Given the description of an element on the screen output the (x, y) to click on. 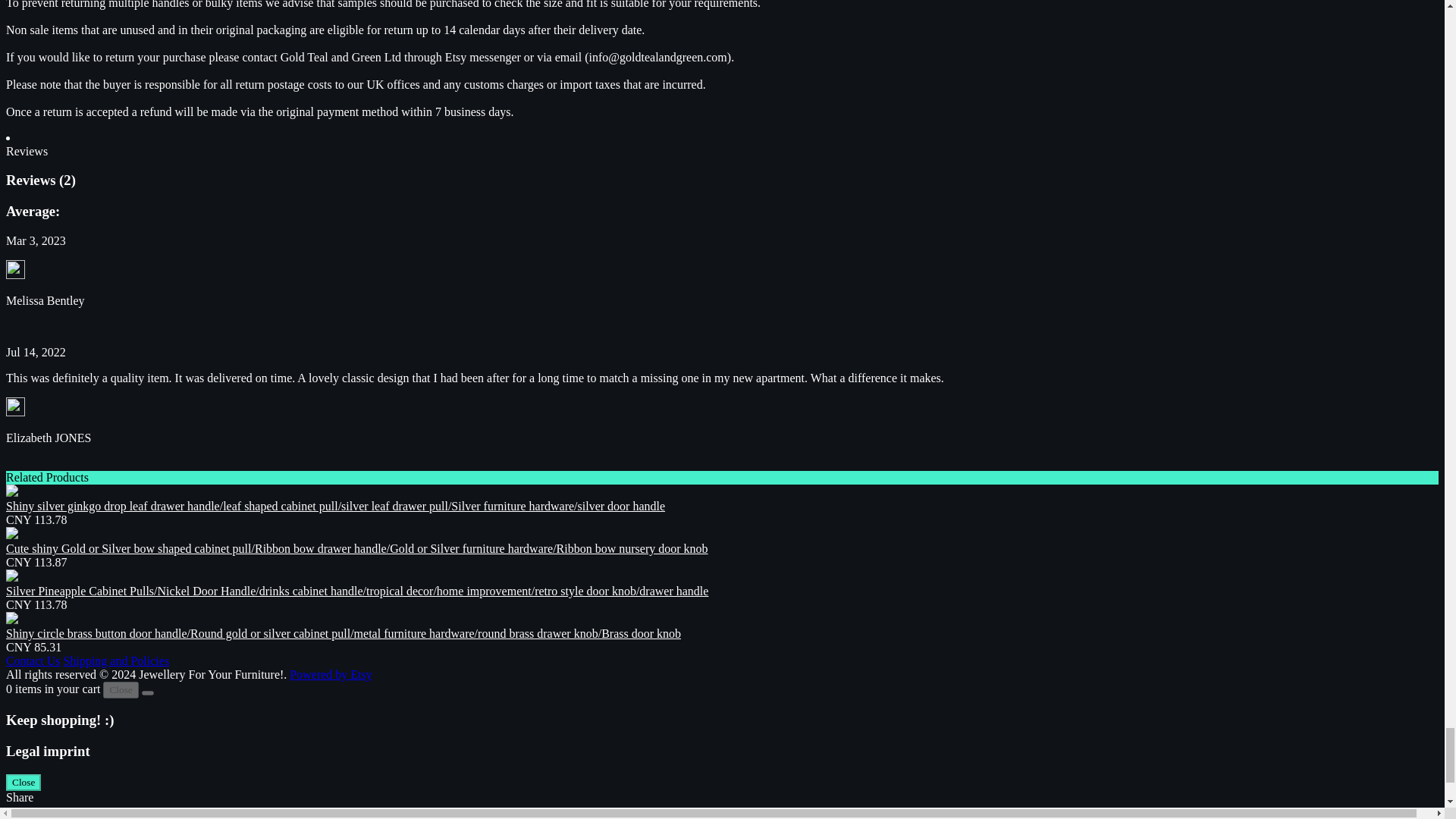
Close (22, 782)
Contact Us (33, 660)
Shipping and Policies (117, 660)
Close (120, 689)
Powered by Etsy (330, 674)
